Given the description of an element on the screen output the (x, y) to click on. 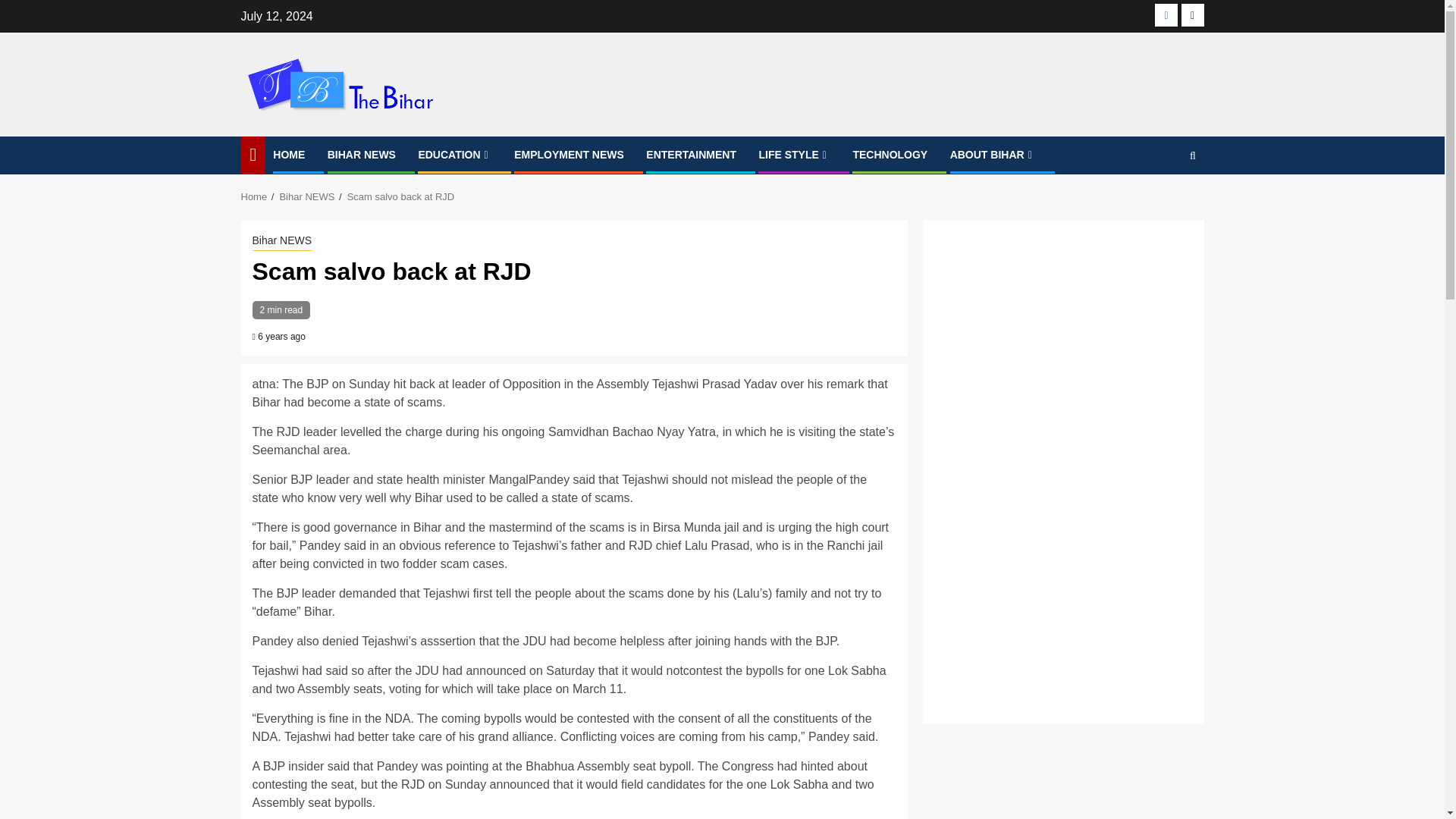
Bihar NEWS (281, 240)
BIHAR NEWS (361, 154)
ENTERTAINMENT (691, 154)
Facebook (1165, 15)
TECHNOLOGY (889, 154)
ABOUT BIHAR (992, 154)
EDUCATION (454, 154)
EMPLOYMENT NEWS (568, 154)
Twitter (1192, 15)
Scam salvo back at RJD (400, 196)
Home (254, 196)
Search (1163, 201)
Advertisement (1062, 592)
Bihar NEWS (306, 196)
LIFE STYLE (793, 154)
